Given the description of an element on the screen output the (x, y) to click on. 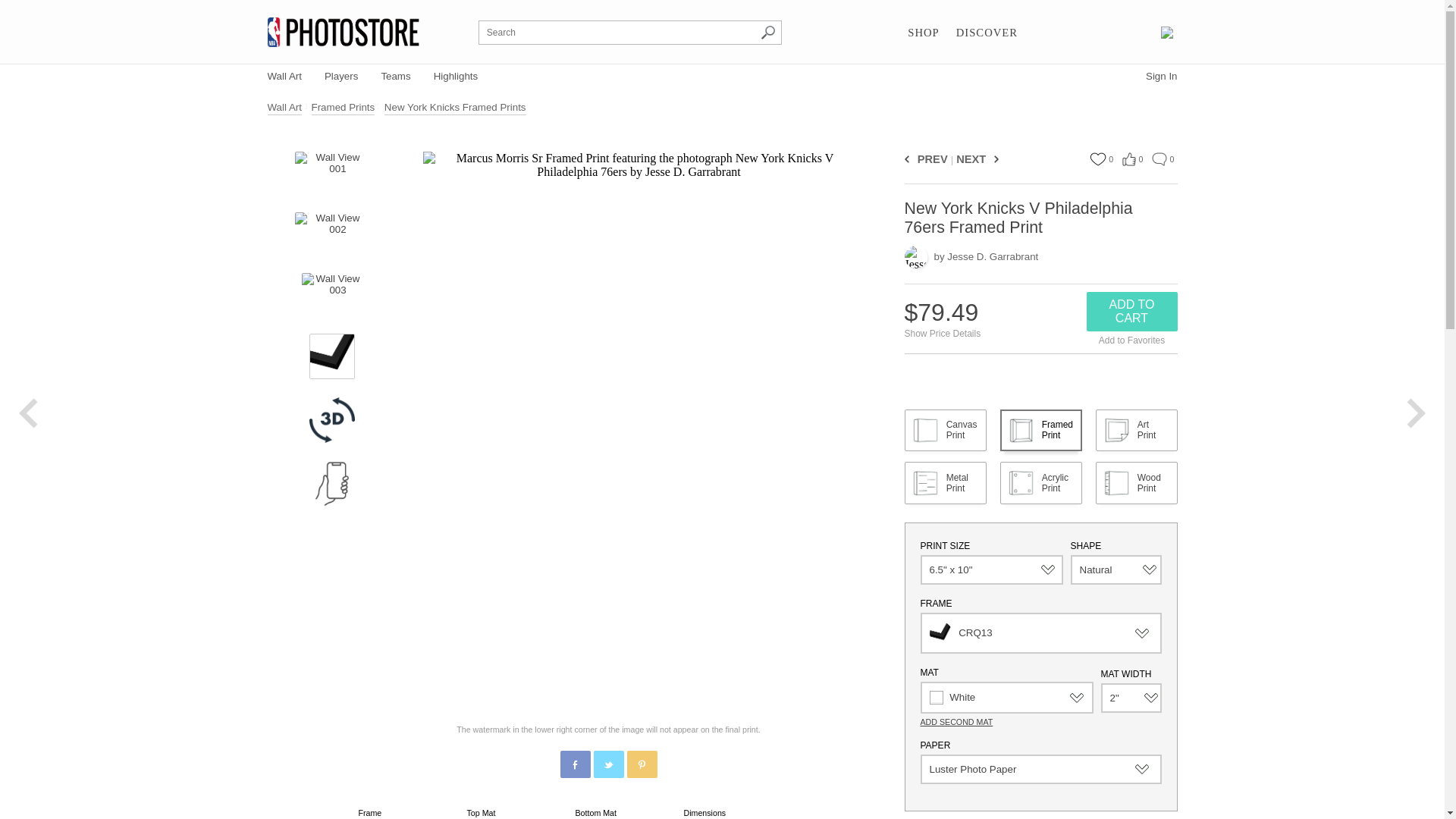
Wall View 002 (331, 234)
Wall View 003 (331, 295)
Search (767, 32)
Frame Detail (331, 356)
Launch Mobile App (331, 483)
SHOP (922, 32)
Share Product on Pinterest (641, 764)
Share Product on Twitter (607, 764)
3D View (331, 420)
Wall View 001 (331, 174)
Twitter (609, 765)
NBA Photo Store (342, 31)
Facebook (575, 765)
Pinterest (642, 765)
